Given the description of an element on the screen output the (x, y) to click on. 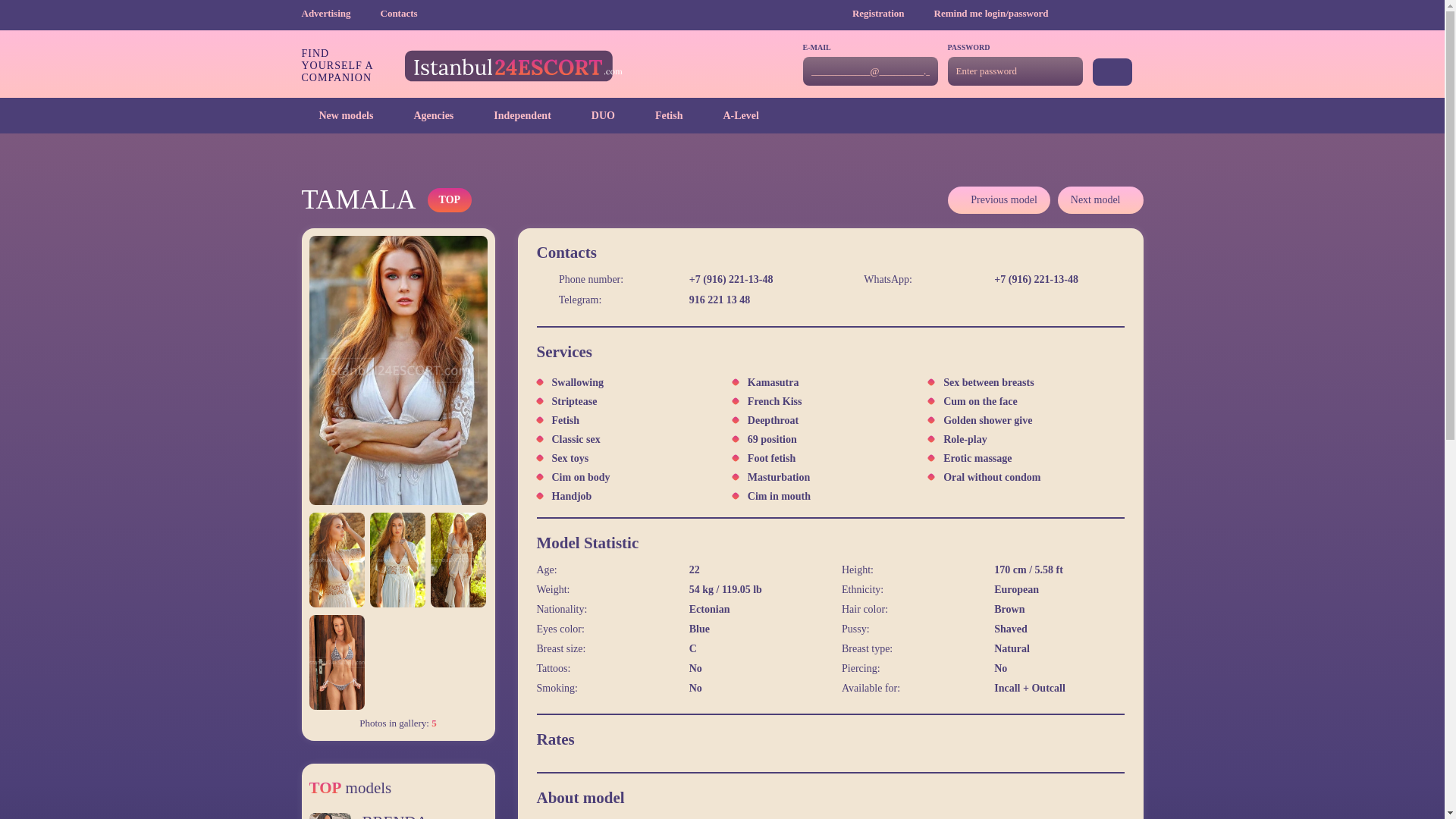
Fetish (659, 115)
FIND YOURSELF A COMPANION (462, 65)
Agencies (424, 115)
Independent (513, 115)
Advertising (339, 12)
New models (337, 115)
Previous model (998, 199)
A-Level (731, 115)
Contacts (398, 12)
